Given the description of an element on the screen output the (x, y) to click on. 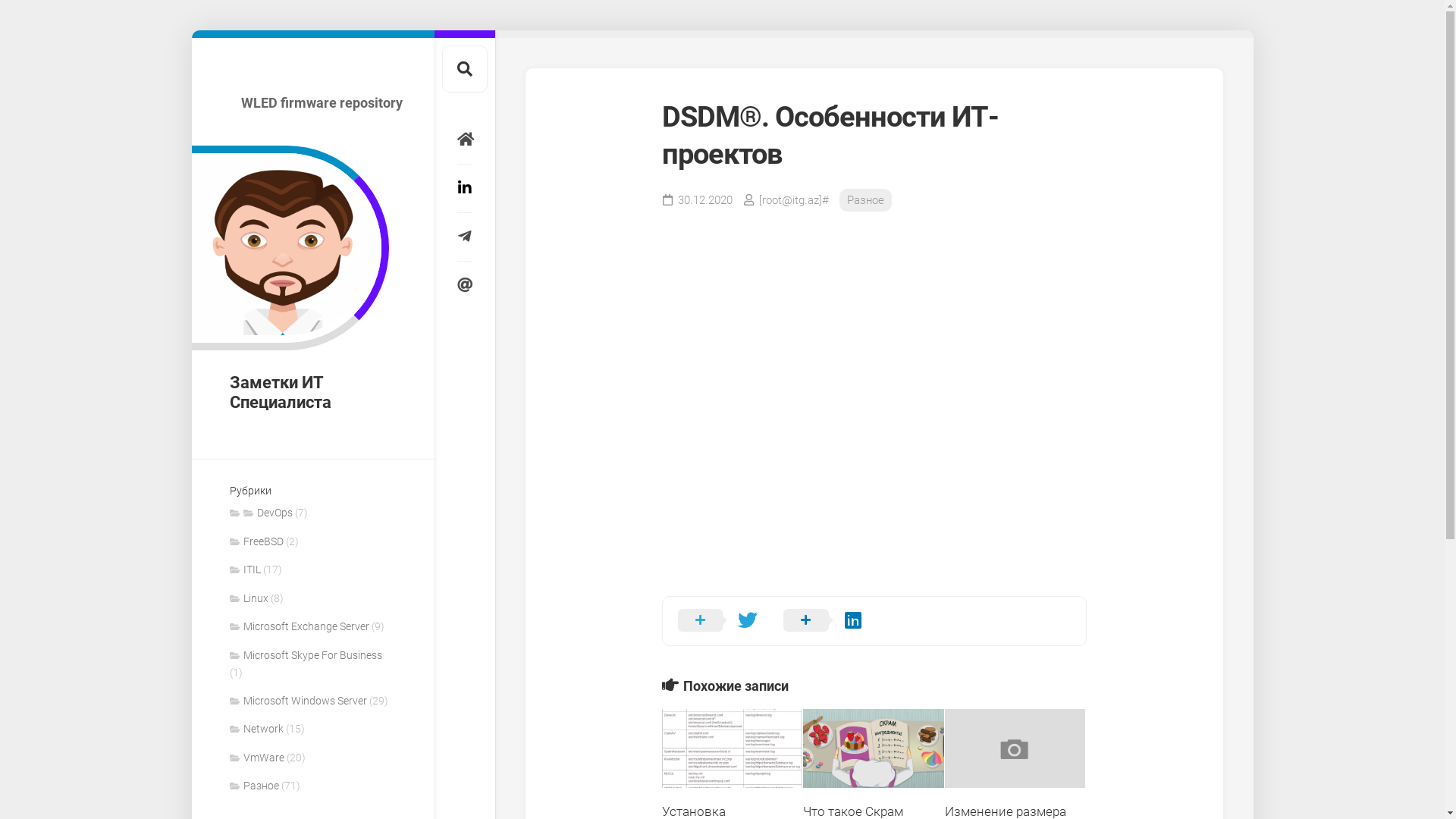
Linkedin Element type: hover (463, 187)
Telegram Element type: hover (463, 236)
Linux Element type: text (248, 598)
Microsoft Exchange Server Element type: text (298, 626)
ITIL Element type: text (244, 569)
DevOps Element type: text (266, 512)
FreeBSD Element type: text (255, 541)
VmWare Element type: text (256, 757)
Mail Element type: hover (463, 284)
Microsoft Windows Server Element type: text (297, 700)
[root@itg.az]# Element type: text (793, 200)
Microsoft Skype For Business Element type: text (305, 655)
WLED firmware repository Element type: text (673, 102)
Network Element type: text (255, 728)
Home Element type: hover (463, 139)
